Given the description of an element on the screen output the (x, y) to click on. 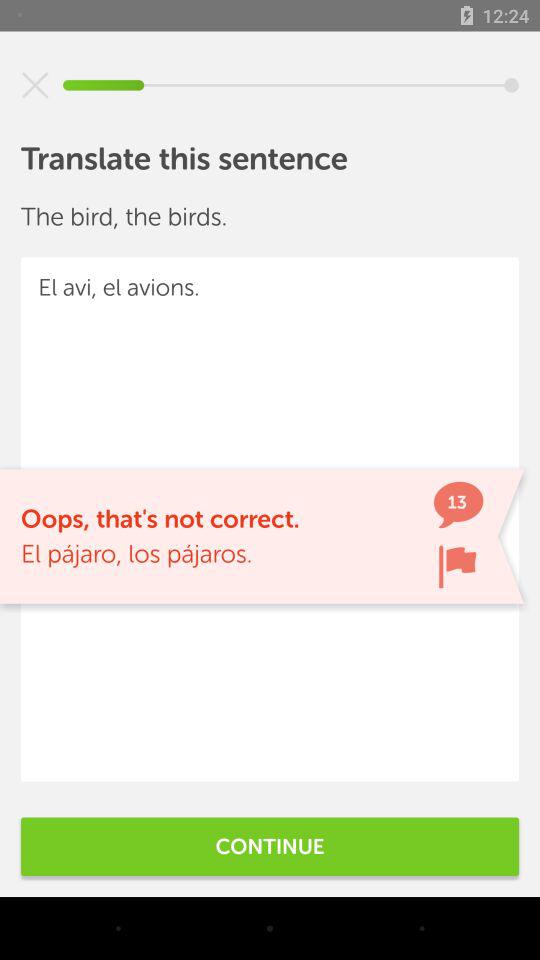
flag sentence (457, 566)
